Given the description of an element on the screen output the (x, y) to click on. 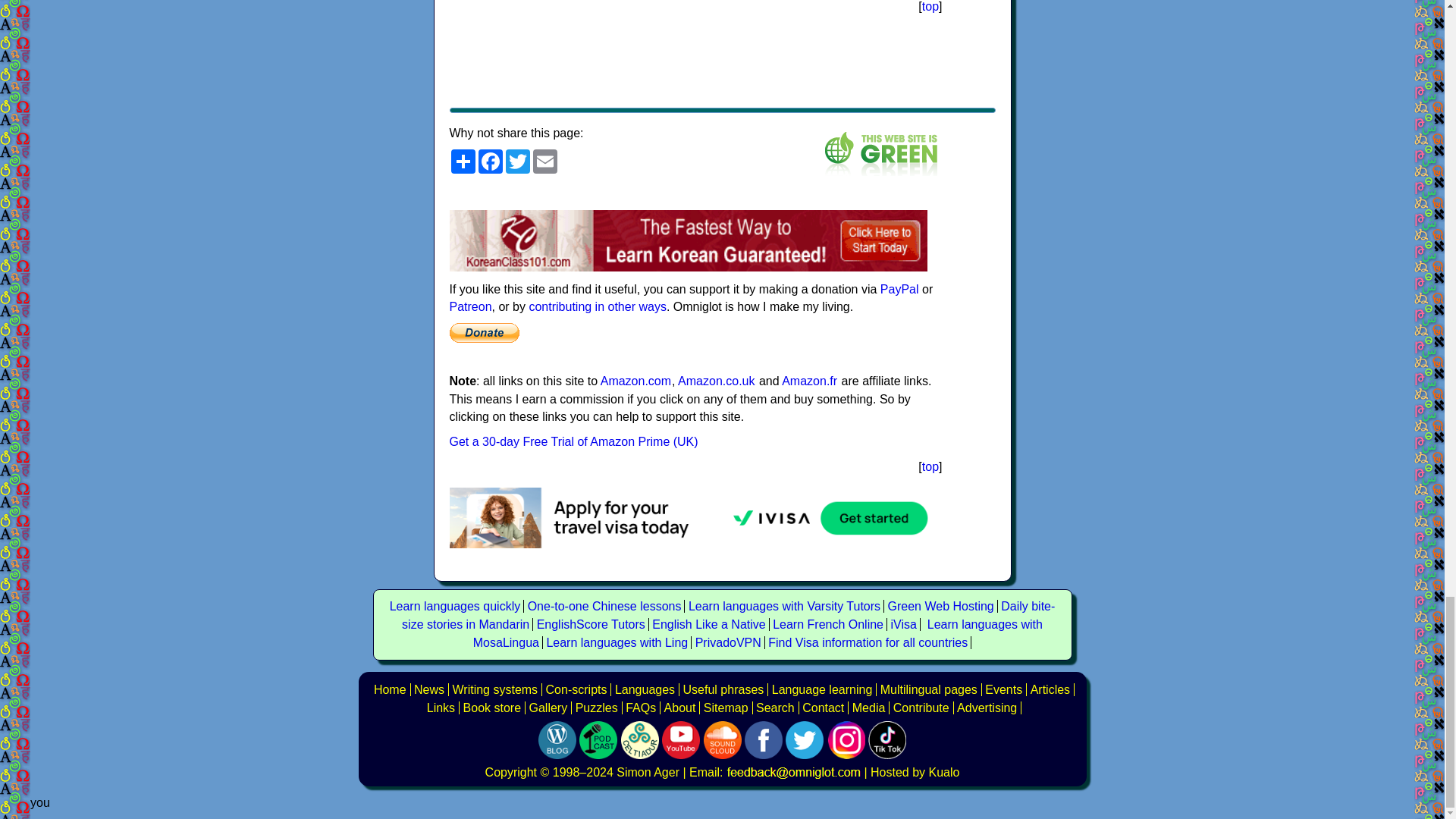
top (930, 6)
PayPal - The safer, easier way to pay online! (483, 332)
Advice on learning languages (821, 689)
A selection of phrases in numerous languages (723, 689)
Facebook (489, 161)
